Given the description of an element on the screen output the (x, y) to click on. 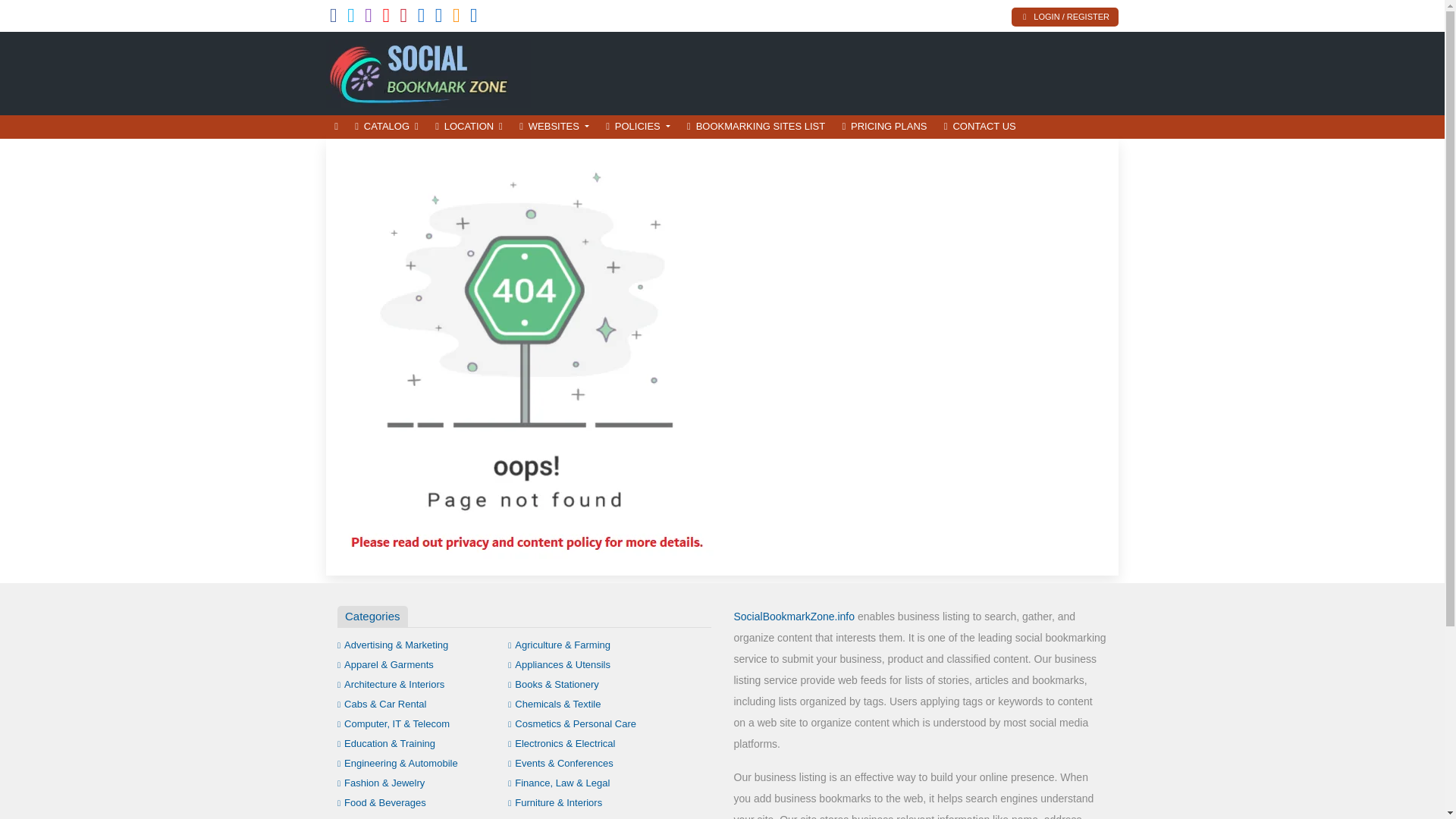
CATALOG (386, 126)
Great Place for Internet Users to Store and Manage Sites (428, 71)
